Given the description of an element on the screen output the (x, y) to click on. 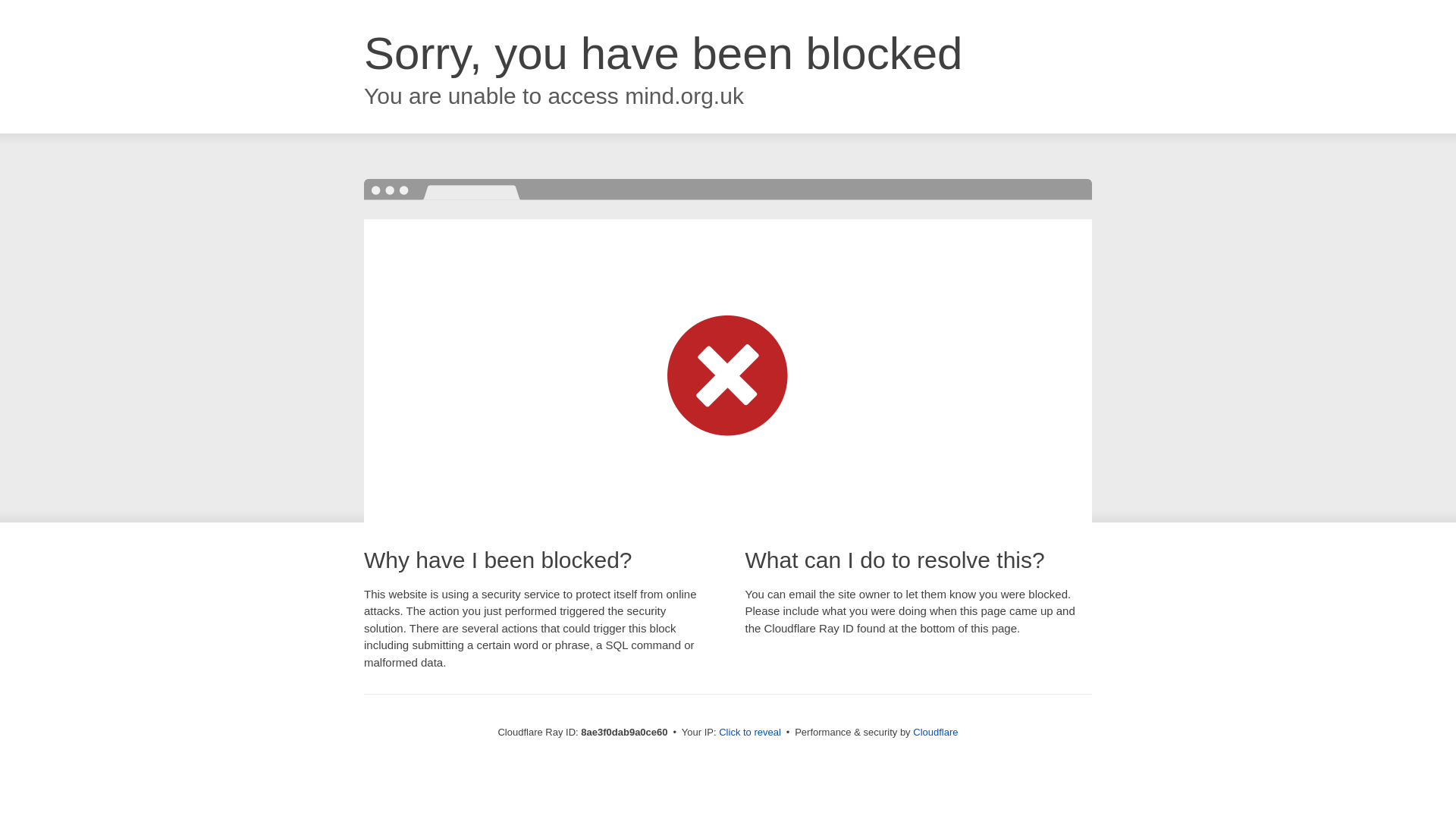
Click to reveal (749, 732)
Cloudflare (935, 731)
